Given the description of an element on the screen output the (x, y) to click on. 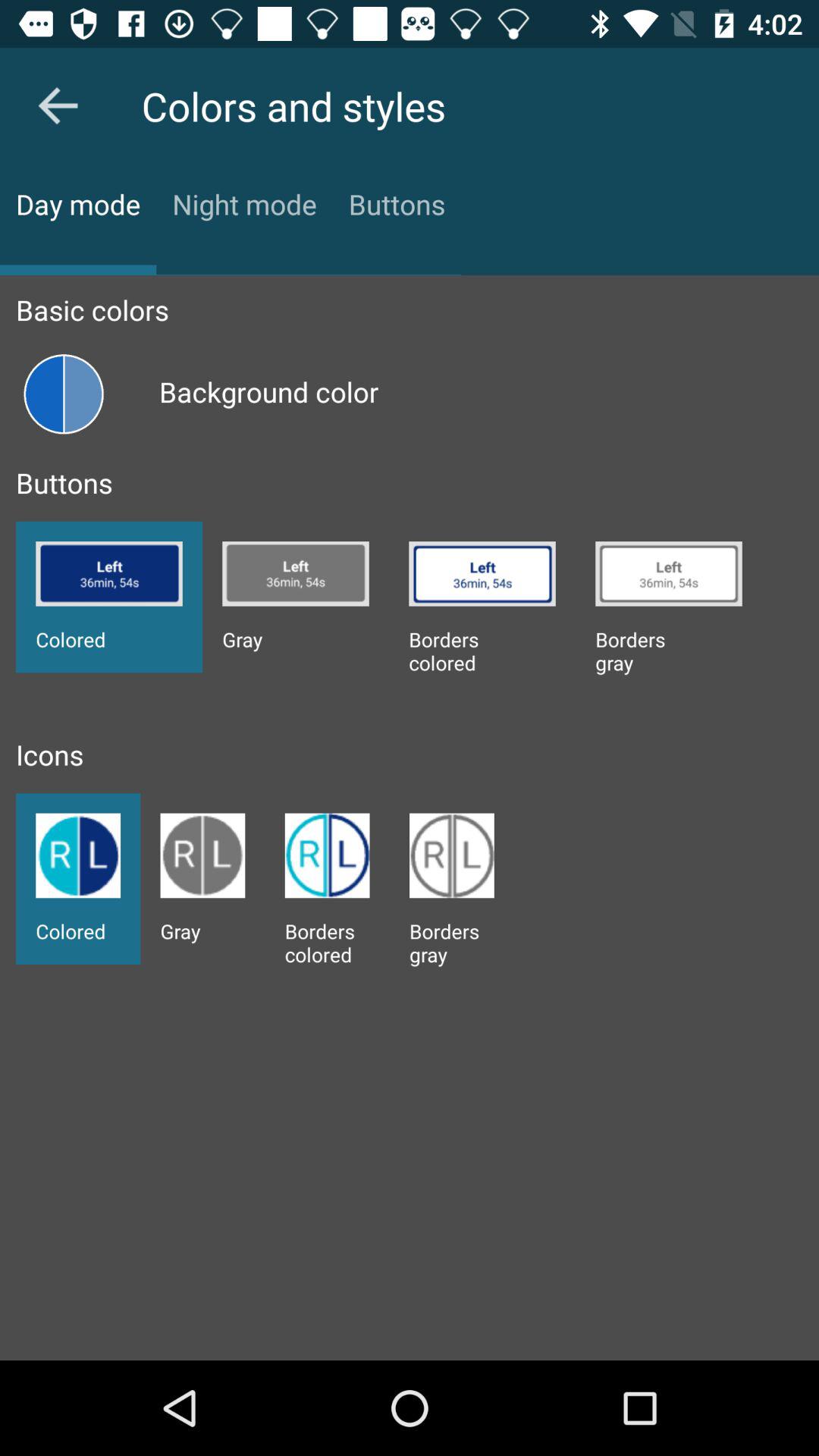
tap icon next to the colors and styles item (57, 105)
